Given the description of an element on the screen output the (x, y) to click on. 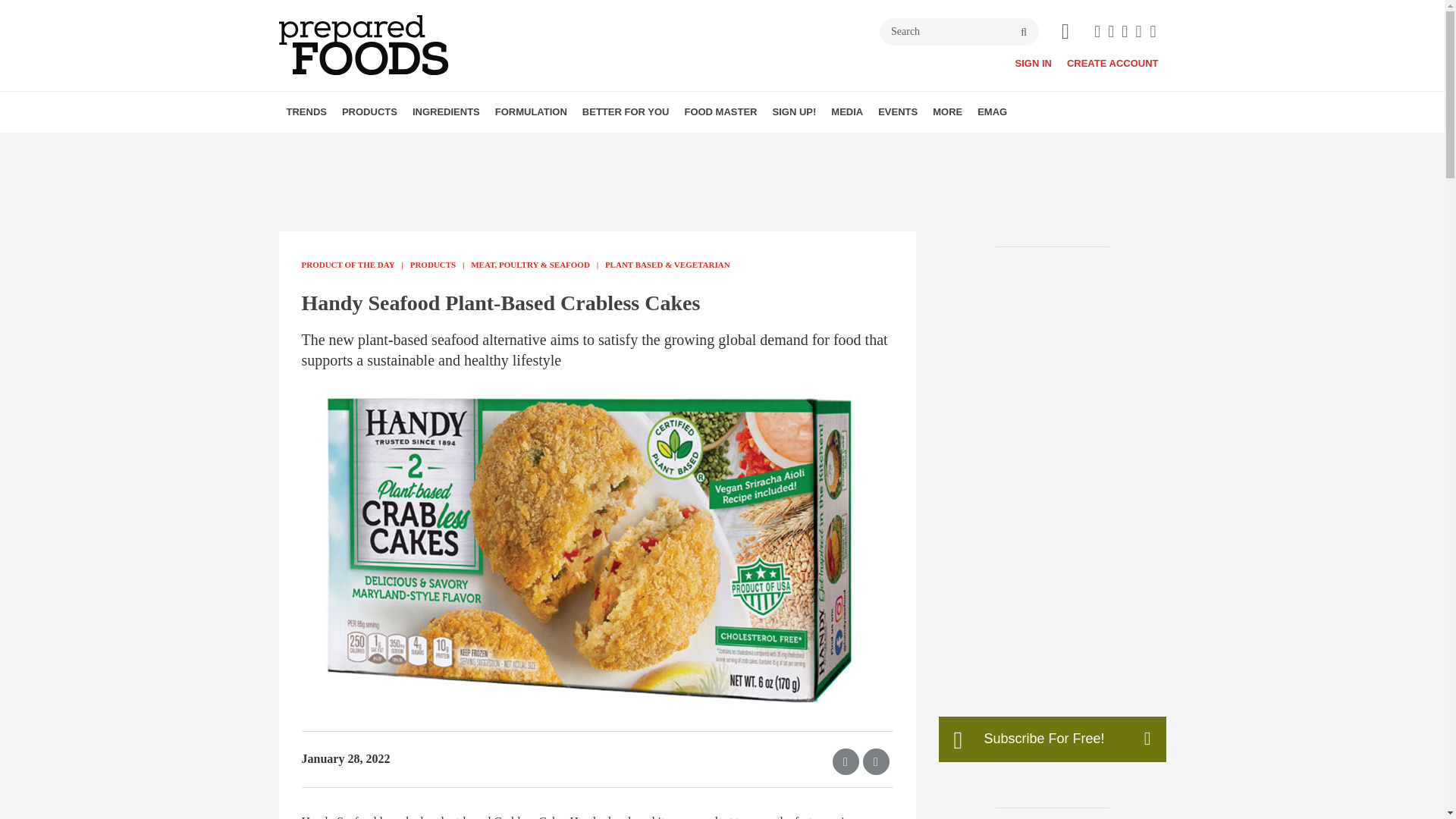
CANDY (448, 145)
2024 TRENDS (373, 145)
BAKERY (429, 145)
DAIRY (456, 145)
Search (959, 31)
CANNABIS (452, 145)
DIETARY FIBER (513, 145)
Search (959, 31)
TRENDS (306, 111)
CREATE ACCOUNT (1112, 62)
